Given the description of an element on the screen output the (x, y) to click on. 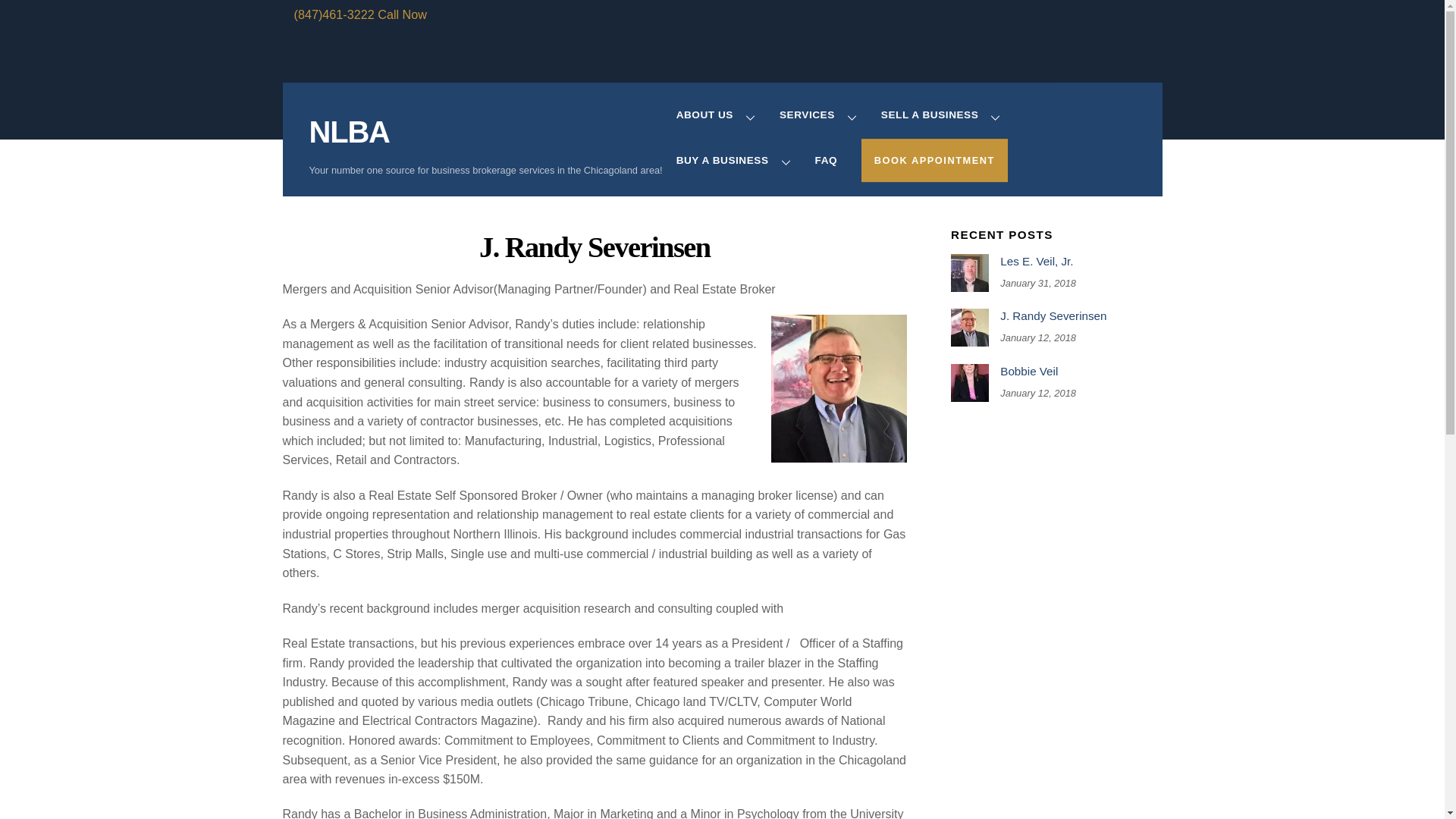
BV Pic 1 (969, 382)
NLBA (349, 131)
Call Now (401, 14)
J. Randy Severinsen (594, 246)
Bobbie Veil (1055, 371)
Les E. Veil, Jr. (1055, 261)
RS Pic (969, 327)
SELL A BUSINESS (941, 117)
J. Randy Severinsen (1055, 315)
